Given the description of an element on the screen output the (x, y) to click on. 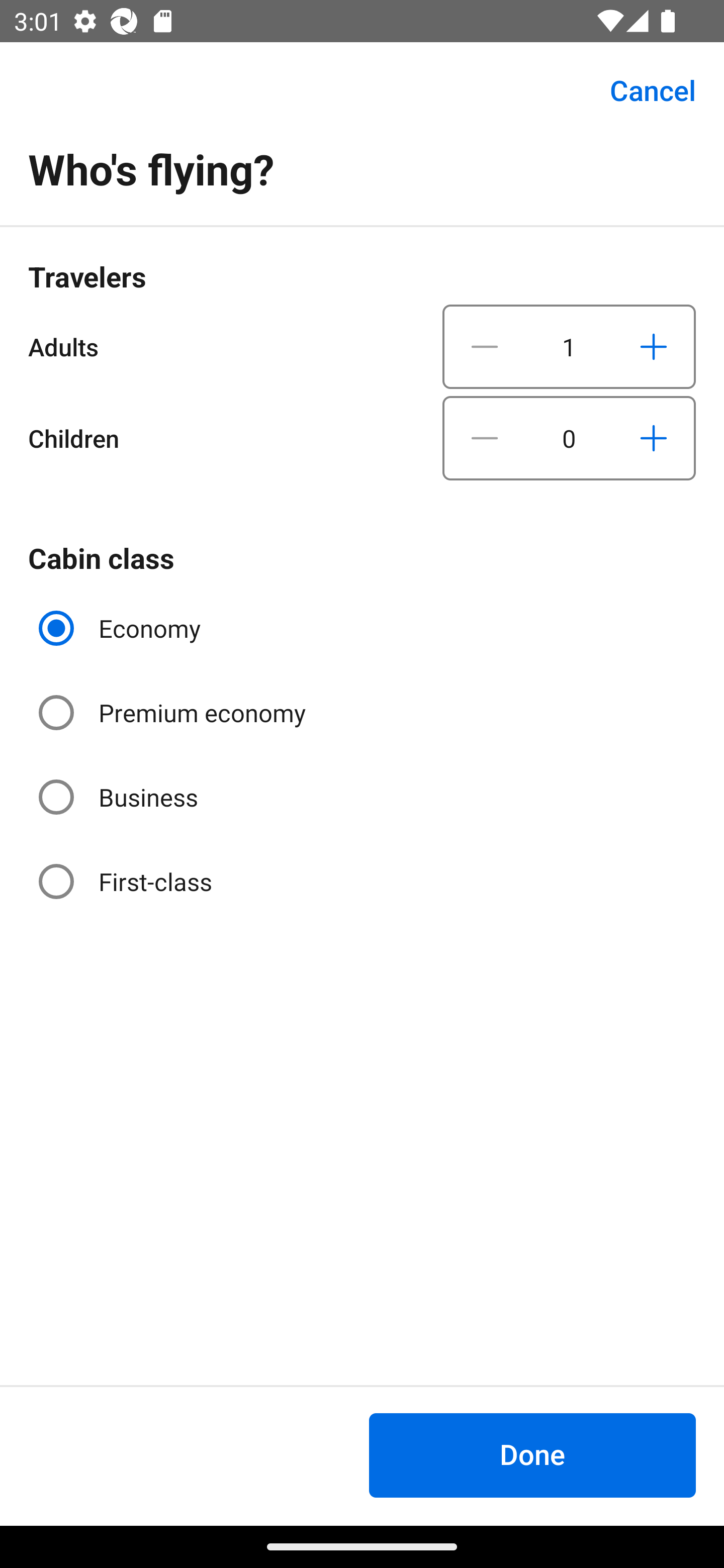
Cancel (641, 90)
Decrease (484, 346)
Increase (653, 346)
Decrease (484, 437)
Increase (653, 437)
Economy (121, 628)
Premium economy (174, 712)
Business (120, 796)
First-class (126, 880)
Done (532, 1454)
